Given the description of an element on the screen output the (x, y) to click on. 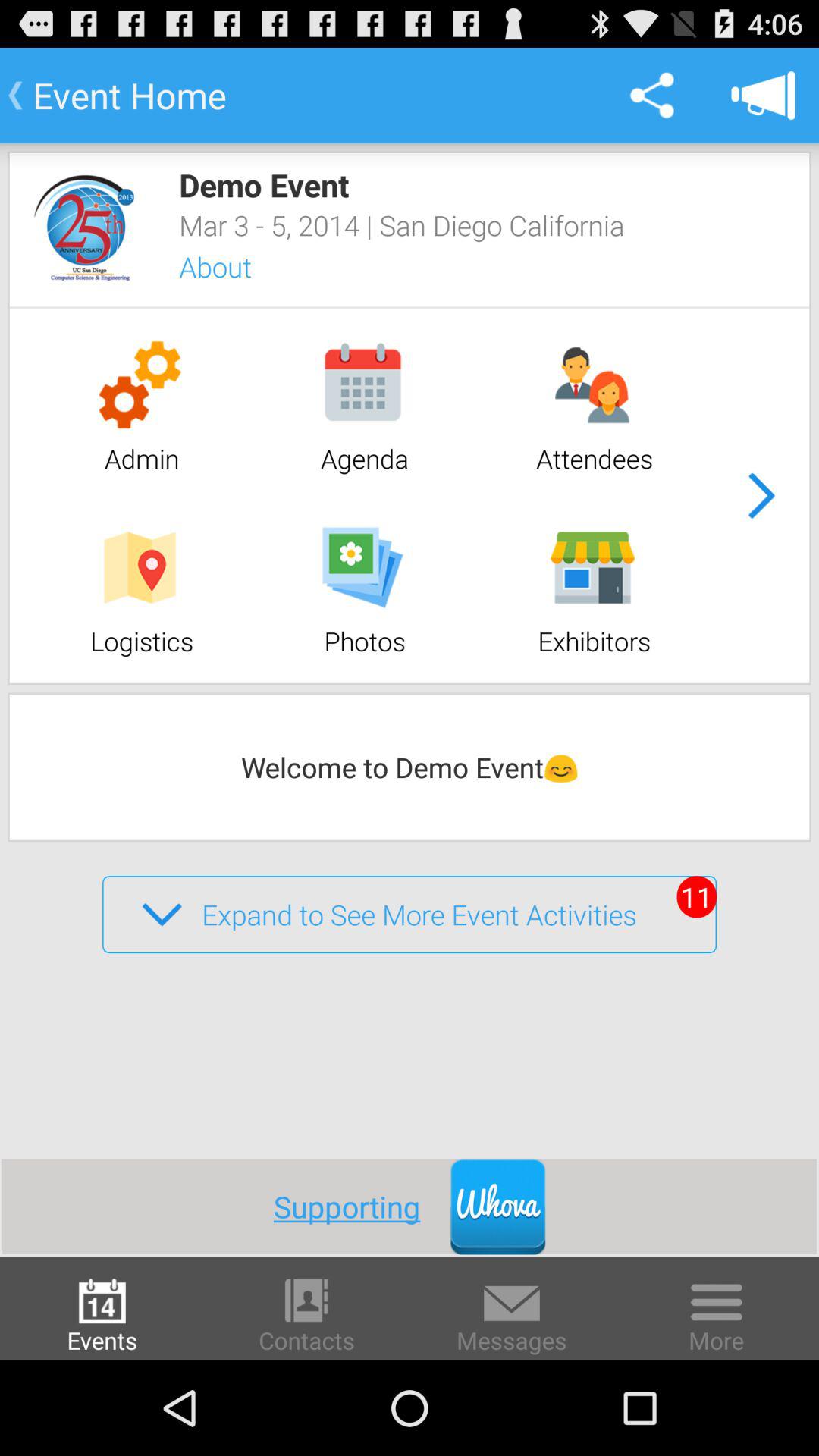
turn off item below mar 3 5 (235, 267)
